Given the description of an element on the screen output the (x, y) to click on. 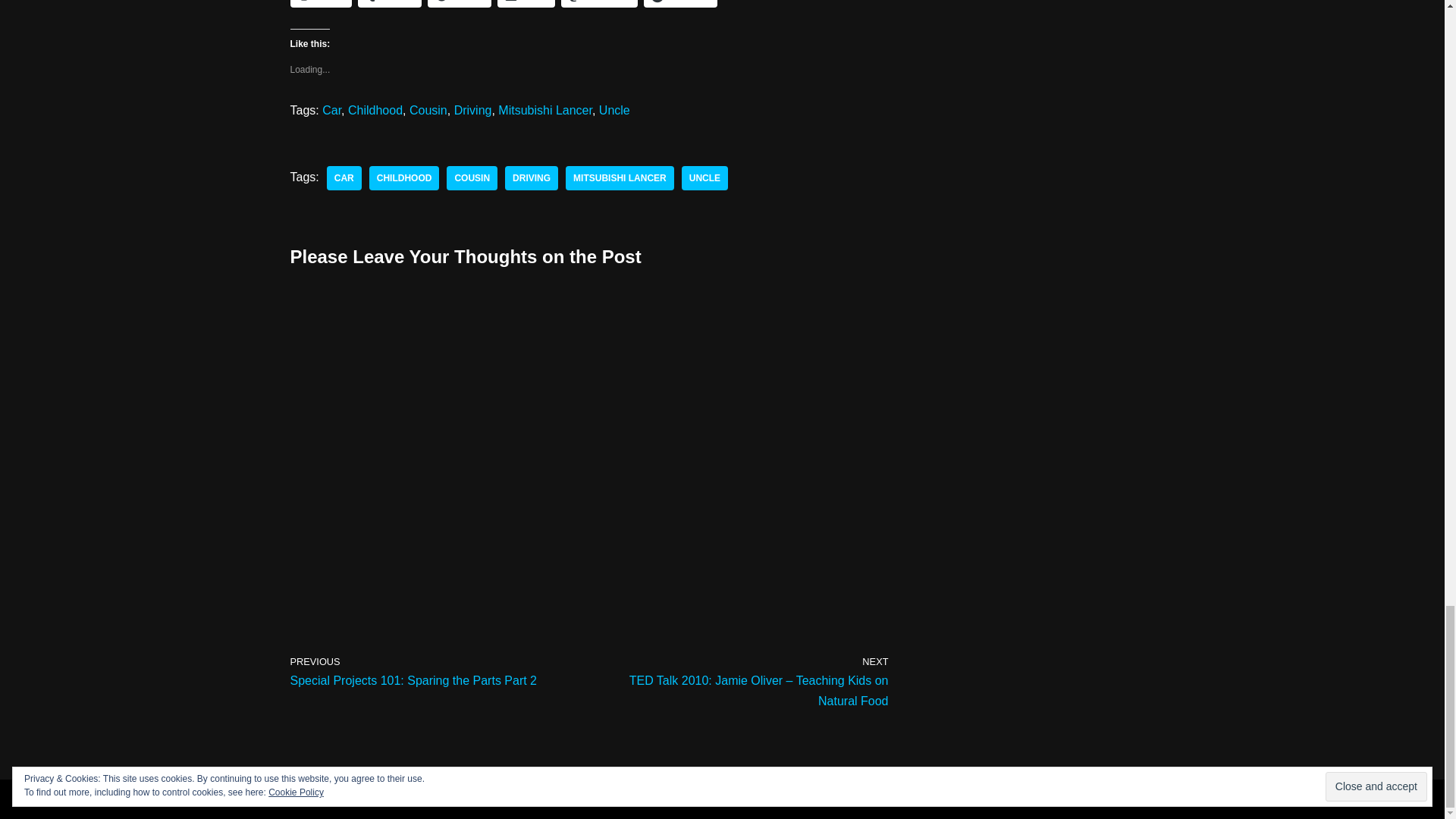
Reddit (320, 3)
Click to share on Reddit (320, 3)
